Given the description of an element on the screen output the (x, y) to click on. 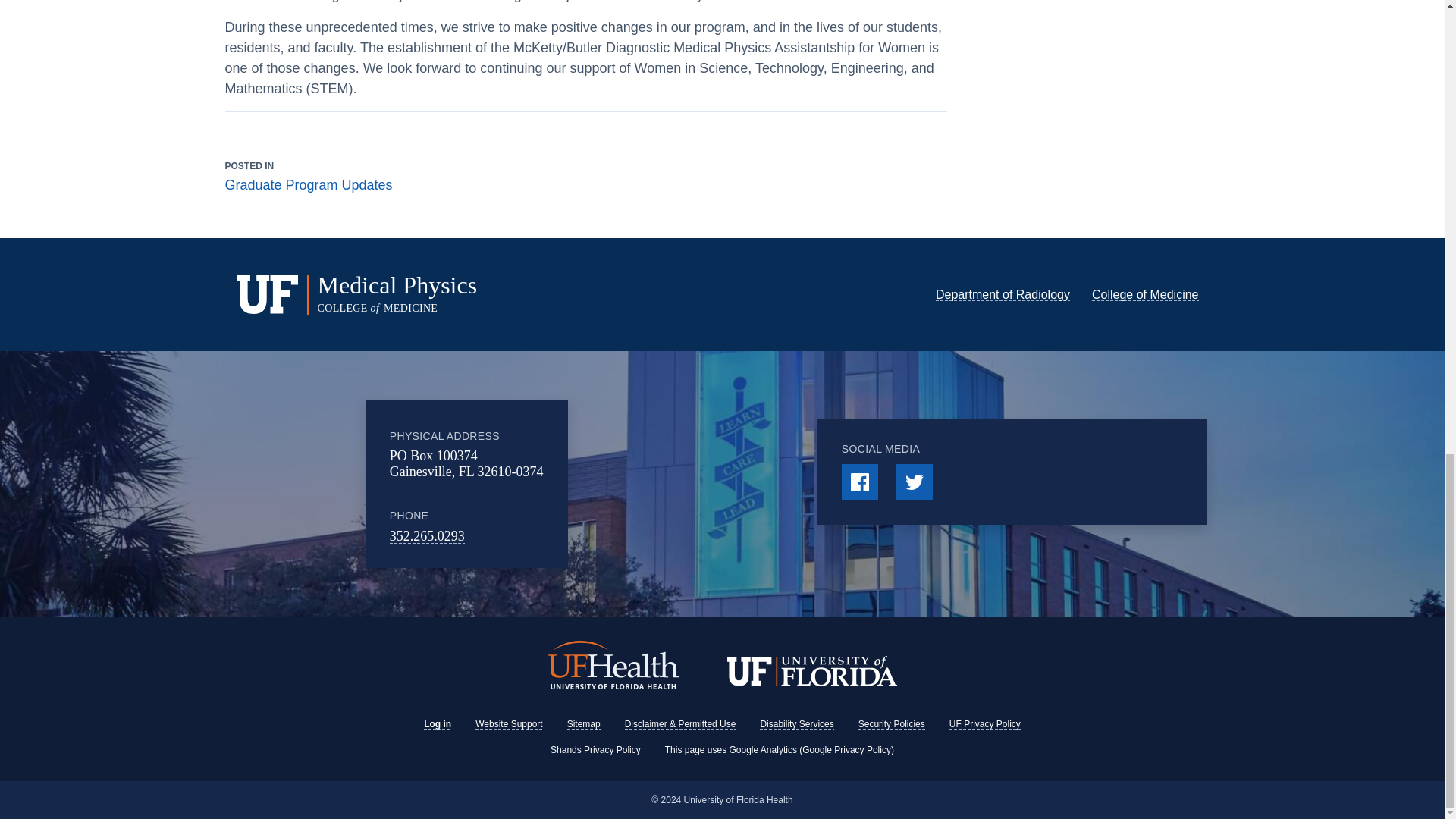
Disability Services (796, 724)
Department of Radiology (1003, 294)
Sitemap (583, 724)
Shands Privacy Policy (595, 749)
Website Support (509, 724)
UF Privacy Policy (984, 724)
Log in (437, 724)
College of Medicine (1145, 294)
Security Policies (891, 724)
352.265.0293 (427, 535)
